Given the description of an element on the screen output the (x, y) to click on. 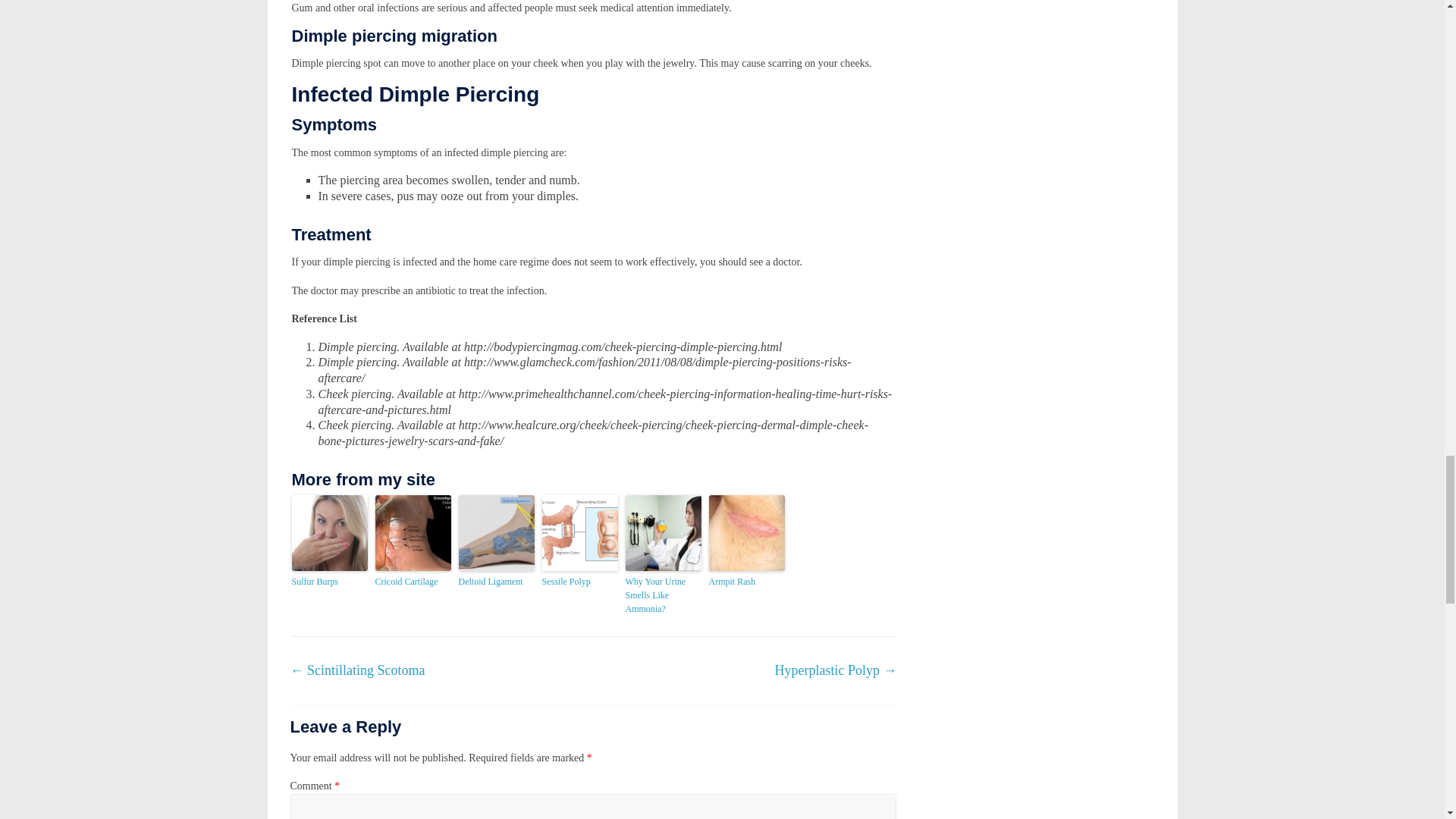
Why Your Urine Smells Like Ammonia? (662, 594)
Cricoid Cartilage (411, 581)
Sessile Polyp (579, 581)
Armpit Rash (745, 581)
Sulfur Burps (328, 581)
Deltoid Ligament (496, 581)
